Given the description of an element on the screen output the (x, y) to click on. 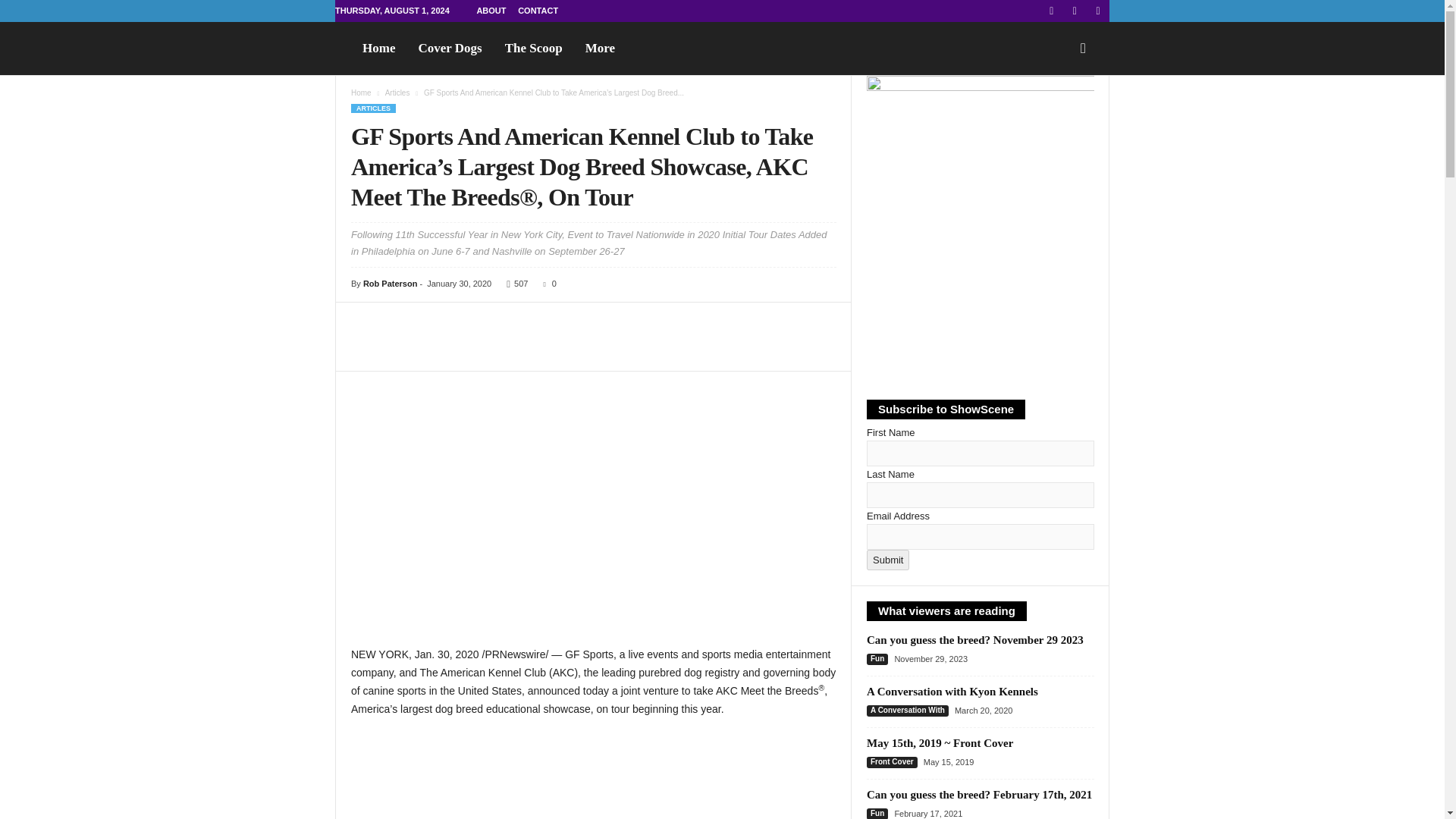
CONTACT (537, 10)
Home (378, 48)
ABOUT (490, 10)
The Scoop (533, 48)
Cover Dogs (449, 48)
